Given the description of an element on the screen output the (x, y) to click on. 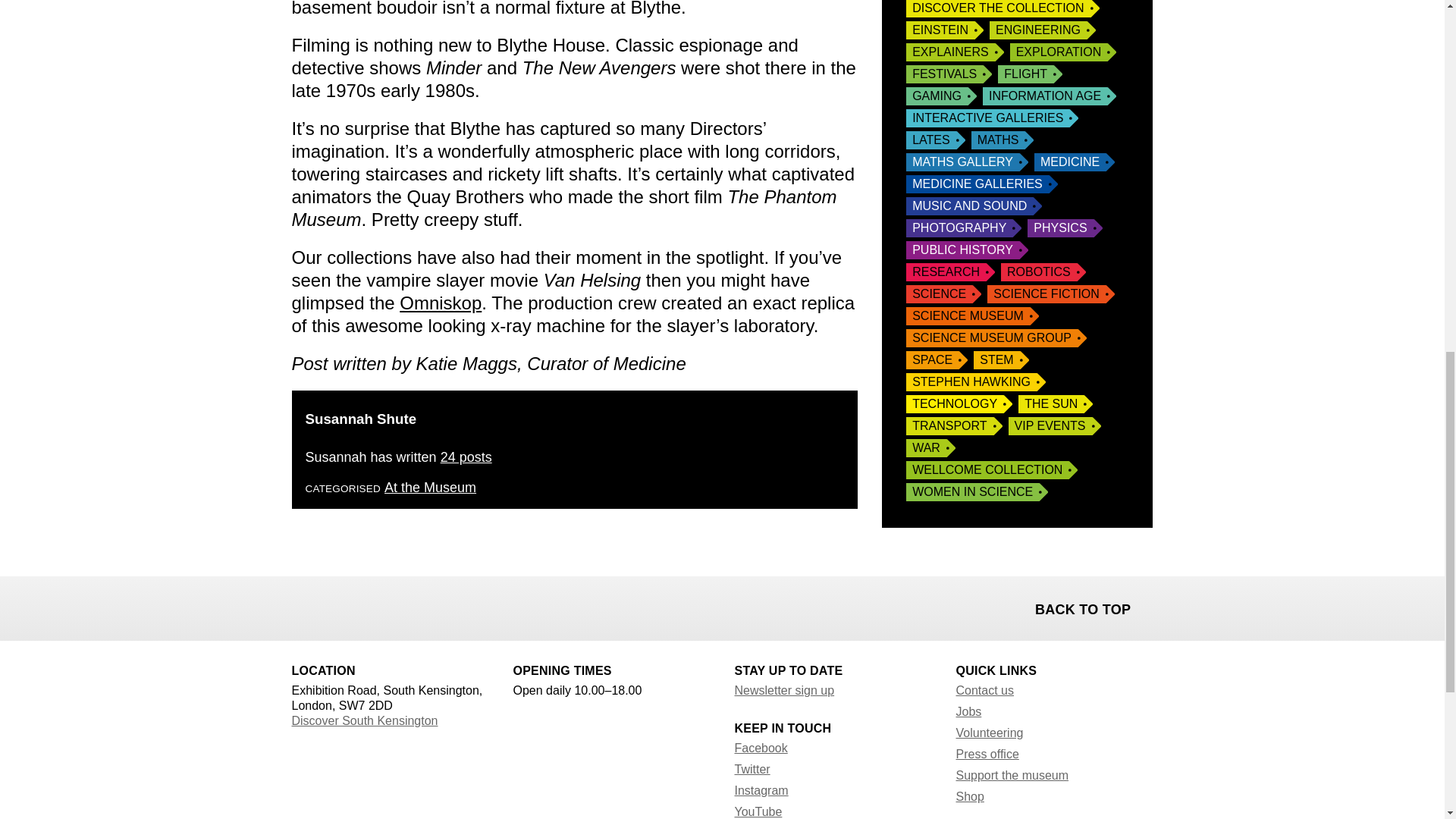
Omniskop (439, 302)
EXPLORATION (1063, 52)
24 posts (466, 457)
Omniskop on Brought to Life (439, 302)
FLIGHT (1029, 74)
ENGINEERING (1043, 30)
Share on facebook (304, 606)
Share by email (384, 606)
FESTIVALS (948, 74)
GAMING (940, 95)
Tweet this (344, 606)
EINSTEIN (944, 30)
At the Museum (430, 487)
DISCOVER THE COLLECTION (1002, 8)
EXPLAINERS (954, 52)
